Given the description of an element on the screen output the (x, y) to click on. 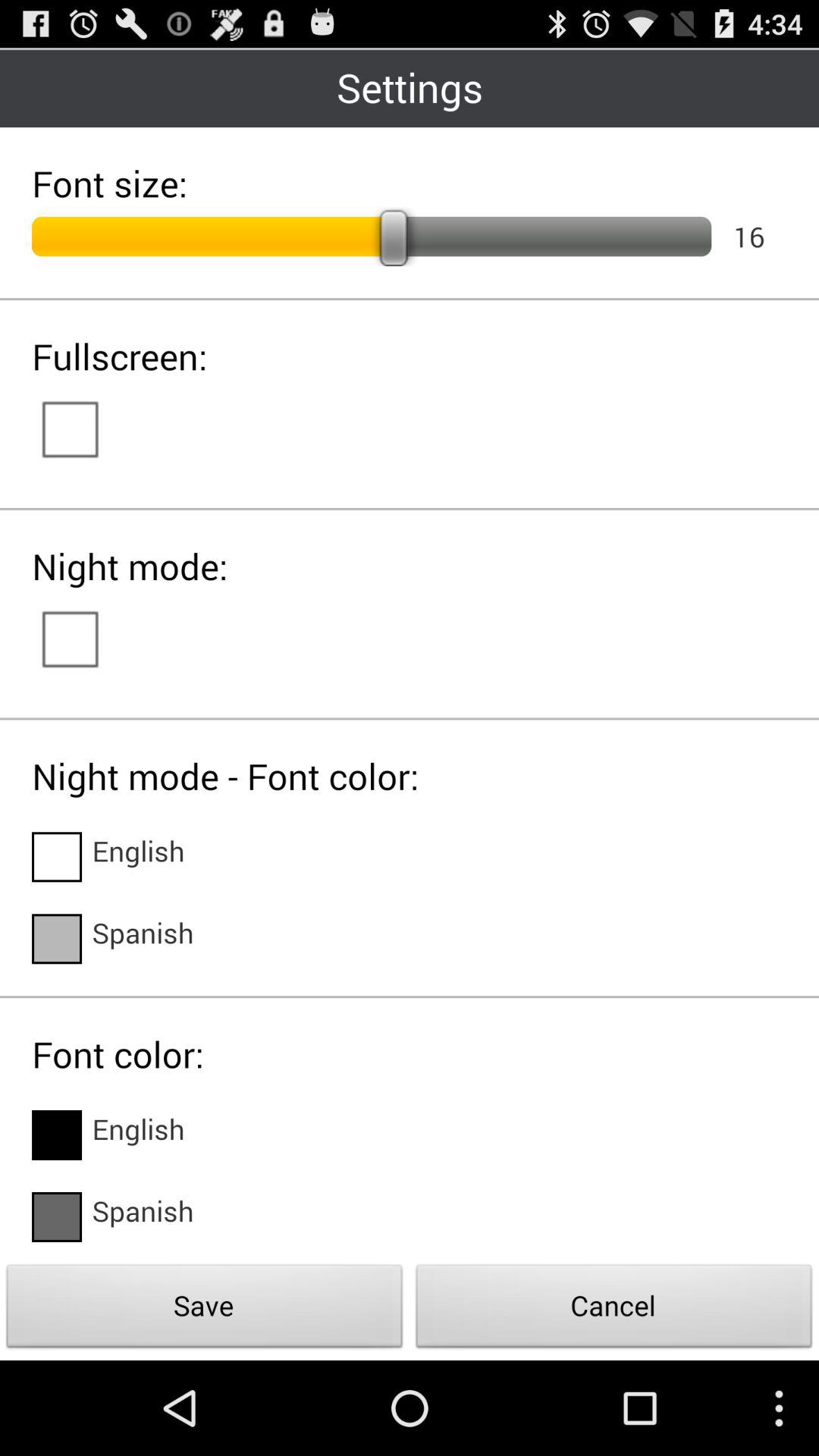
option (85, 637)
